Given the description of an element on the screen output the (x, y) to click on. 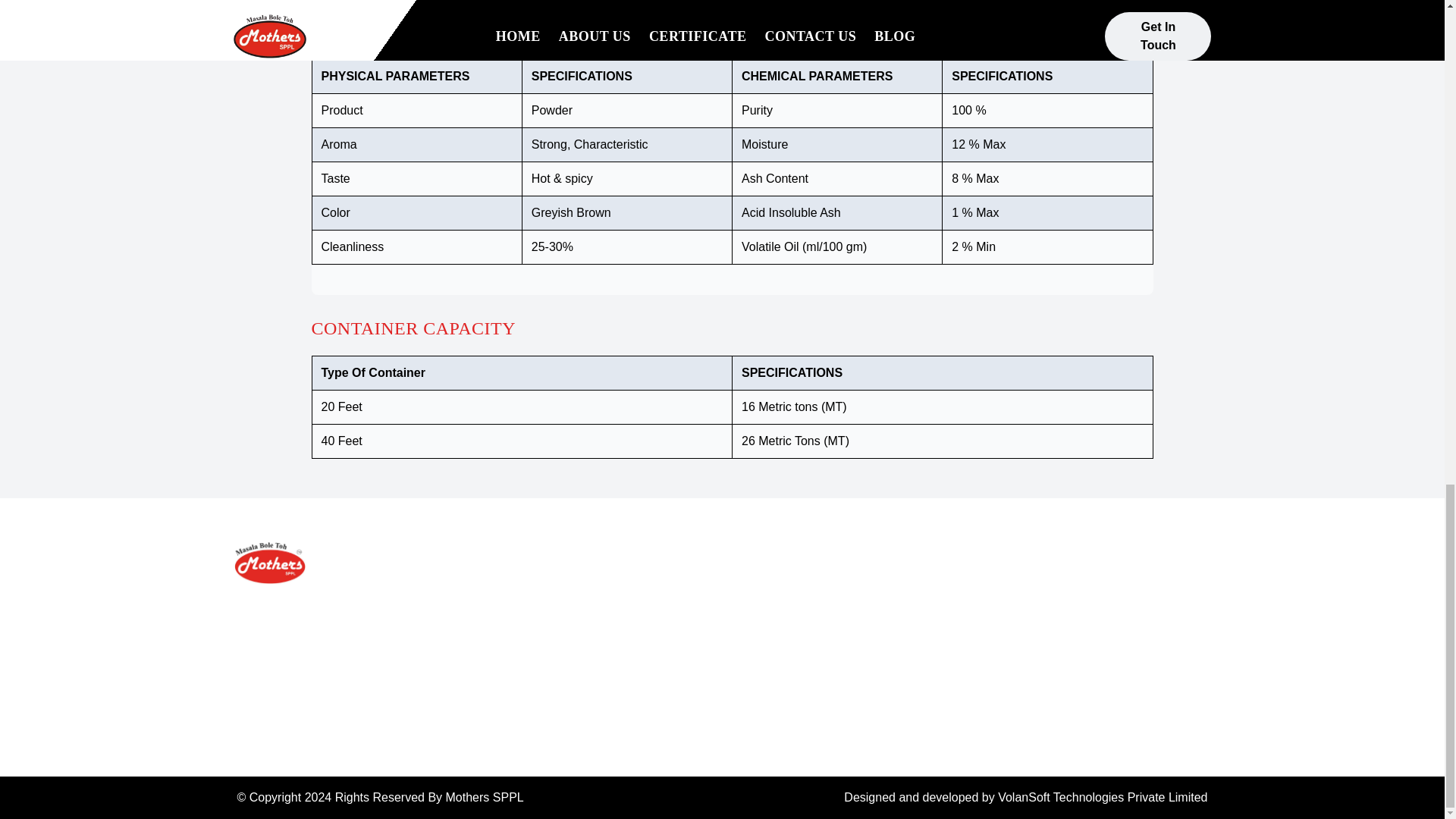
VolanSoft Technologies Private Limited (1102, 797)
Rights Reserved By Mothers SPPL (429, 797)
Tea (746, 650)
Spices Powder (777, 620)
Certificate (596, 650)
Contact US (600, 680)
Product (590, 620)
About Us (594, 590)
Whole Spices (773, 590)
